Given the description of an element on the screen output the (x, y) to click on. 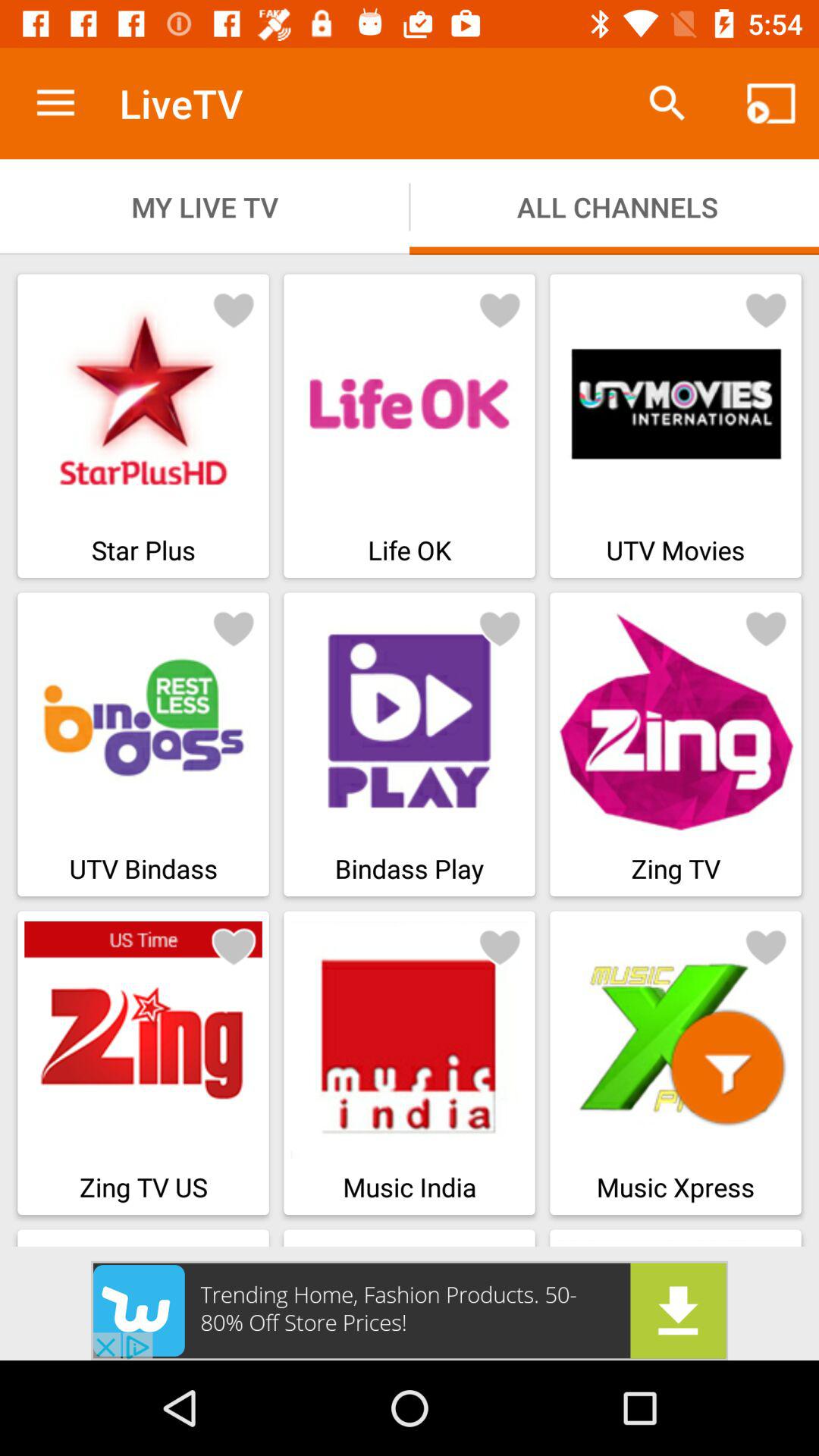
bookmark button (499, 309)
